Given the description of an element on the screen output the (x, y) to click on. 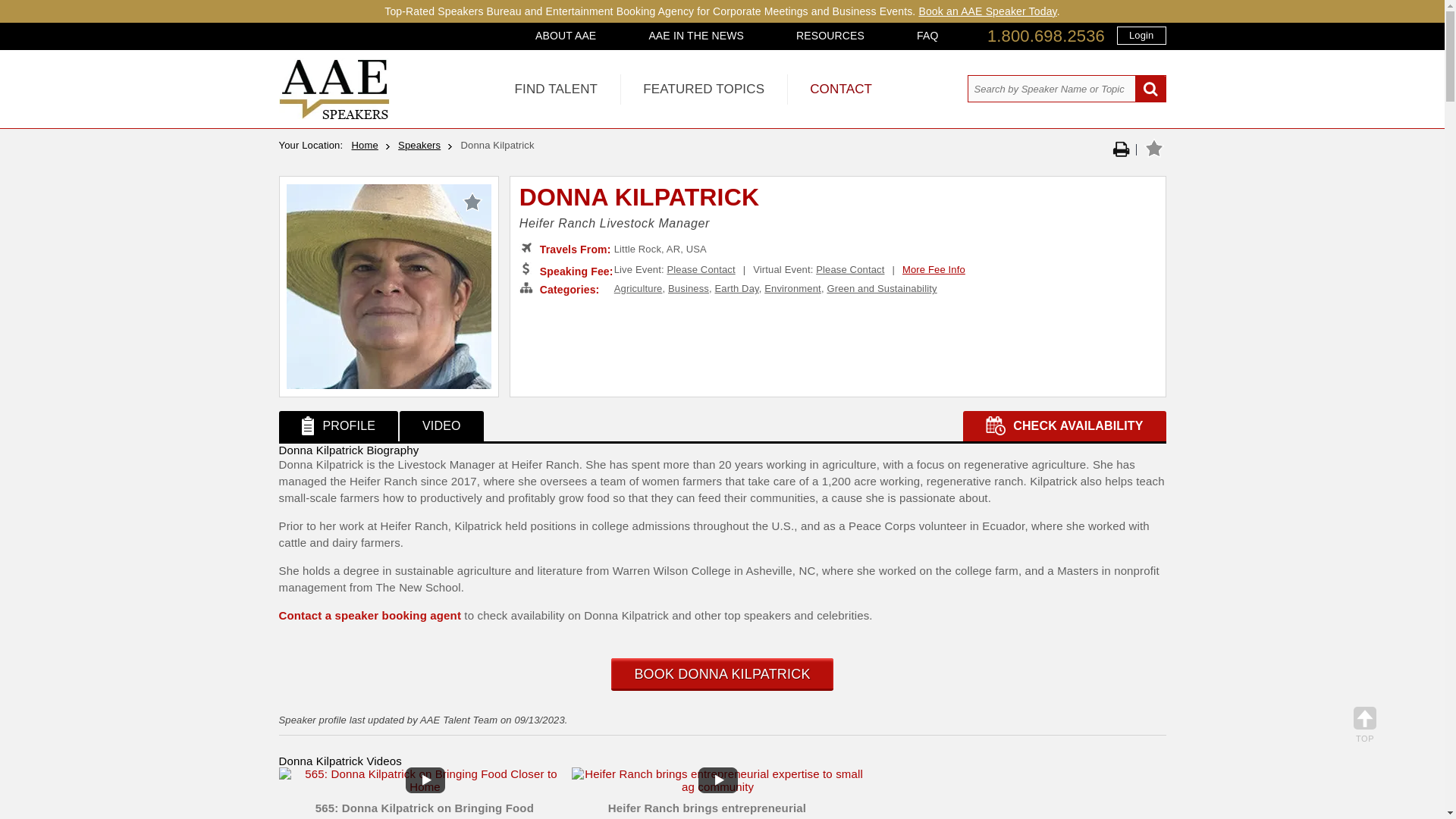
All American Speakers Bureau and Celebrity Booking Agency (334, 115)
1.800.698.2536 (1046, 35)
FAQ (927, 34)
Book an AAE Speaker Today (987, 10)
ABOUT AAE (565, 34)
Search (1150, 89)
RESOURCES (829, 34)
AAE IN THE NEWS (695, 34)
Login (1141, 35)
